Given the description of an element on the screen output the (x, y) to click on. 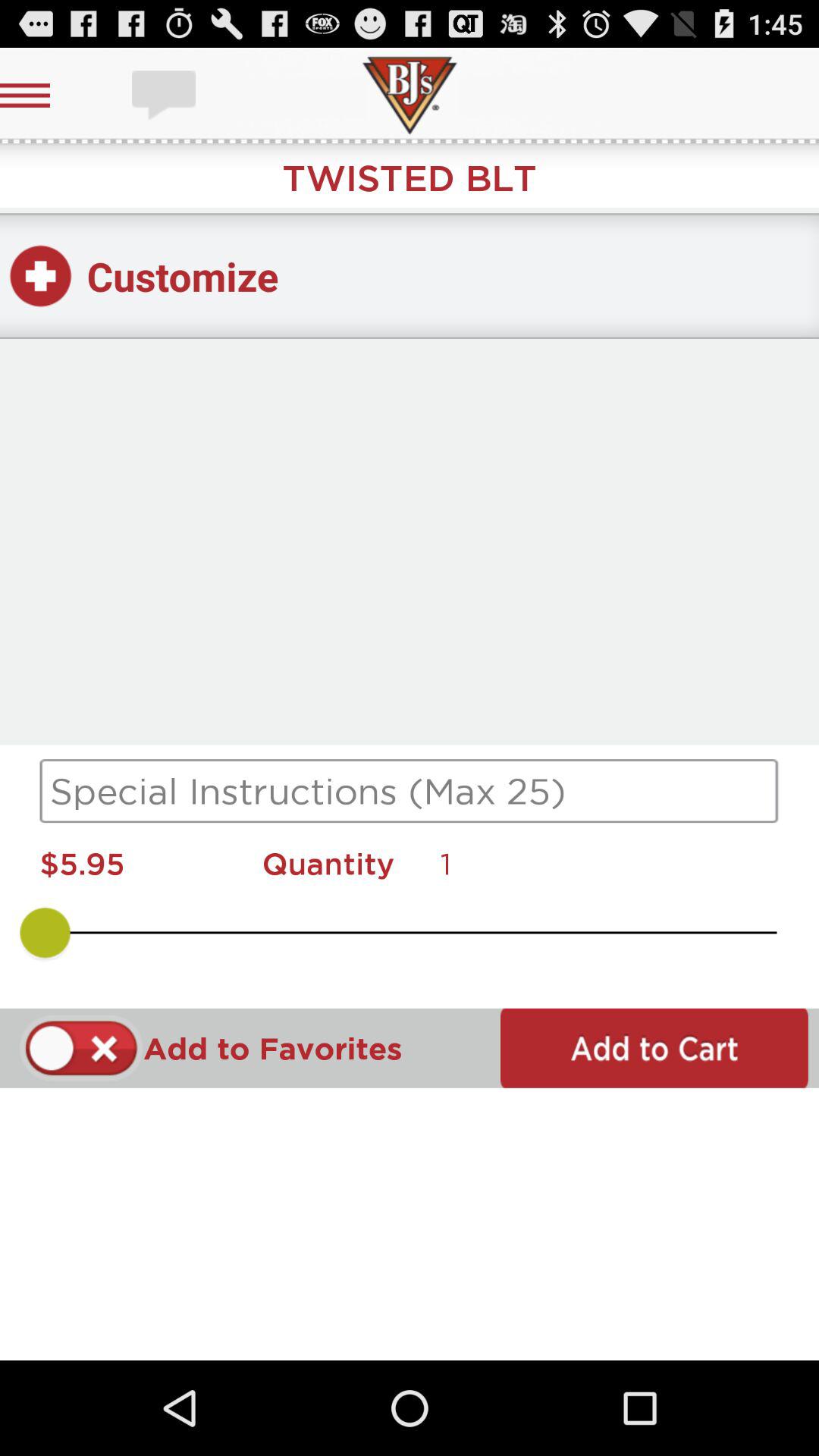
select image (165, 95)
